Given the description of an element on the screen output the (x, y) to click on. 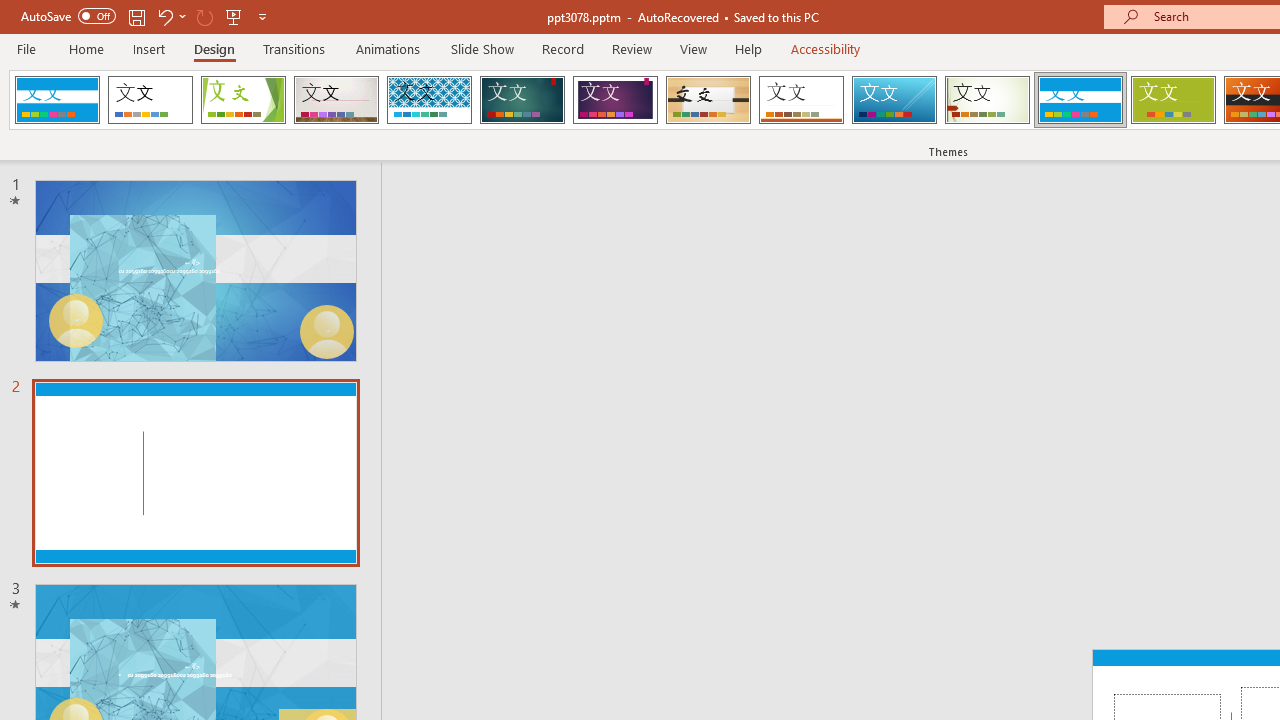
Integral (429, 100)
Gallery (336, 100)
Organic (708, 100)
Office Theme (150, 100)
Wisp (987, 100)
Banded (1080, 100)
Ion Boardroom (615, 100)
